Given the description of an element on the screen output the (x, y) to click on. 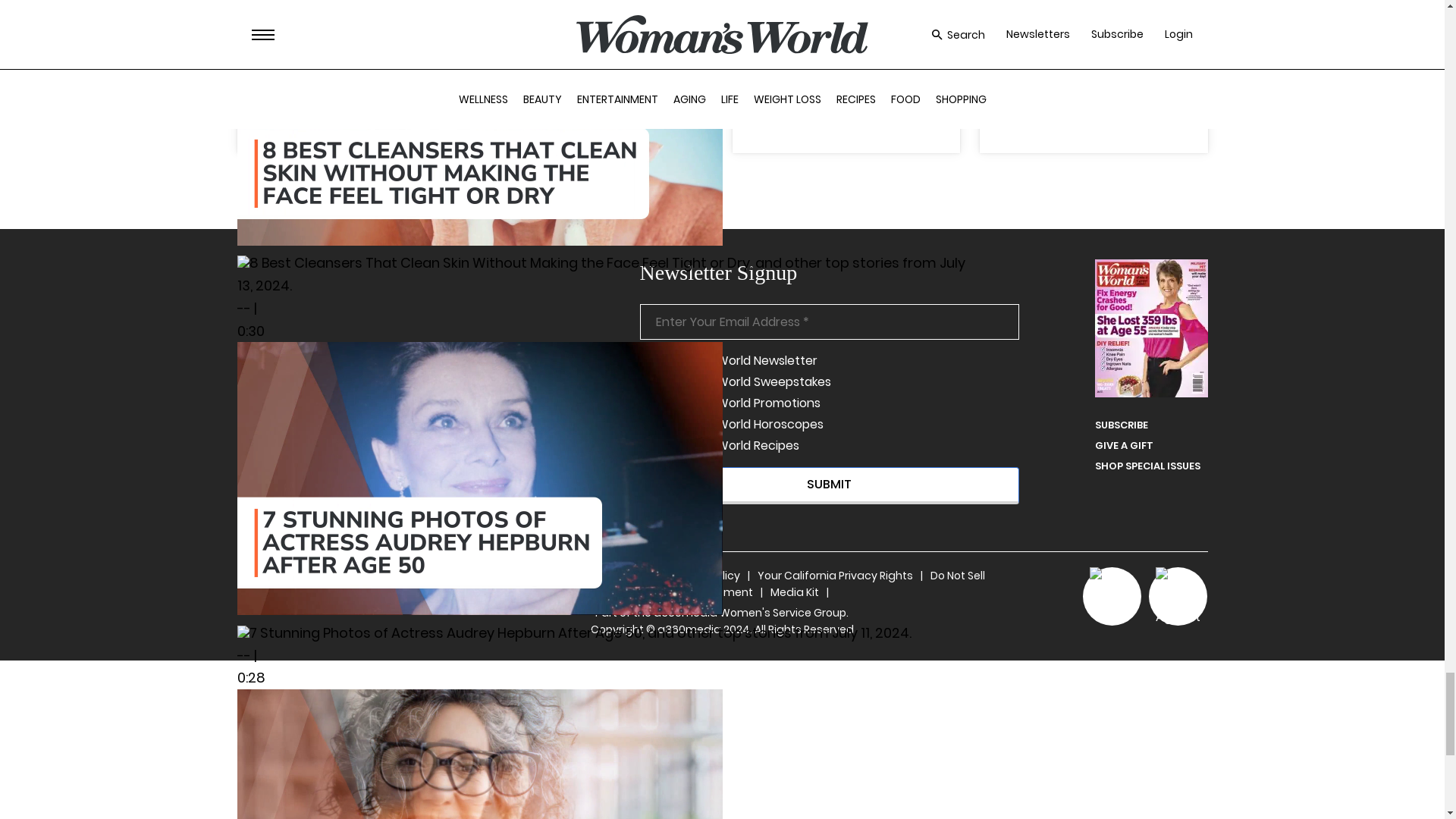
1 (645, 382)
1 (645, 446)
1 (645, 424)
1 (645, 360)
1 (645, 403)
